Given the description of an element on the screen output the (x, y) to click on. 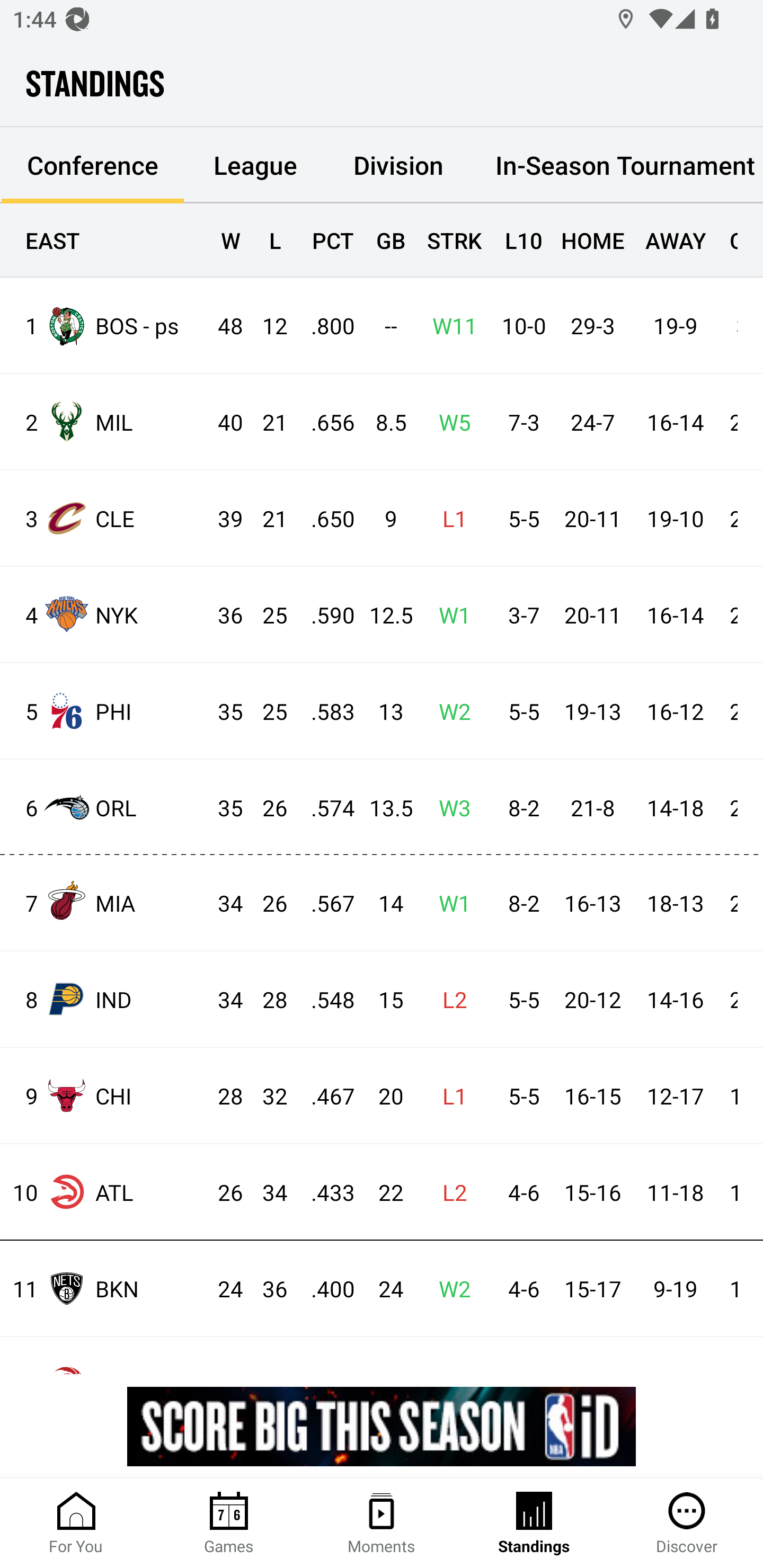
League (254, 165)
Division (398, 165)
In-Season Tournament (616, 165)
1 BOS - ps (104, 325)
2 MIL (104, 421)
3 CLE (104, 518)
4 NYK (104, 613)
5 PHI (104, 710)
6 ORL (104, 806)
7 MIA (104, 902)
8 IND (104, 999)
9 CHI (104, 1095)
10 ATL (104, 1192)
11 BKN (104, 1287)
For You (76, 1523)
Games (228, 1523)
Moments (381, 1523)
Discover (686, 1523)
